Given the description of an element on the screen output the (x, y) to click on. 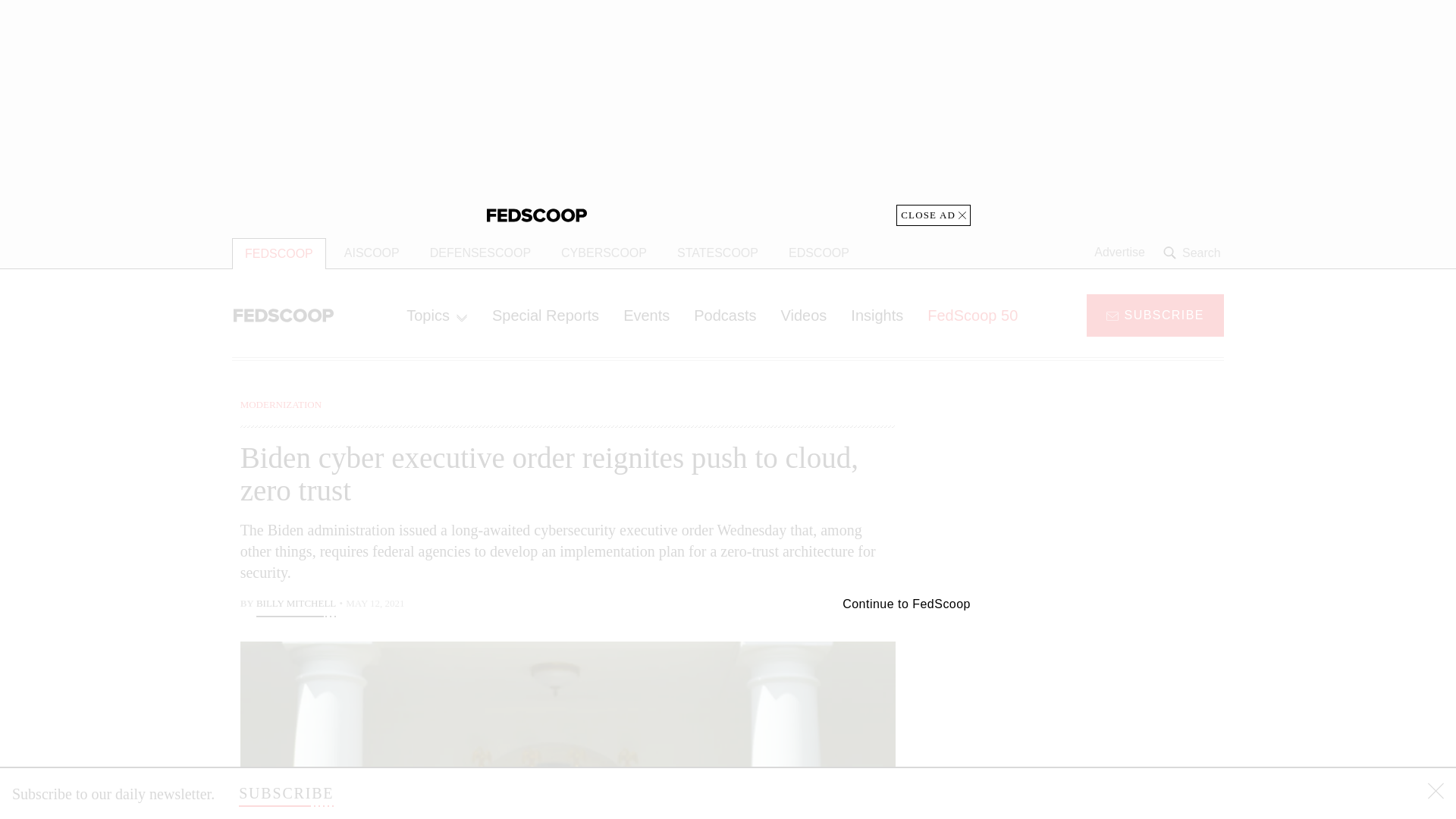
Search (1193, 252)
Special Reports (545, 315)
Topics (437, 315)
MODERNIZATION (280, 404)
Podcasts (724, 315)
SUBSCRIBE (1155, 314)
SUBSCRIBE (285, 793)
FEDSCOOP (278, 253)
3rd party ad content (1101, 705)
AISCOOP (371, 253)
FedScoop 50 (972, 315)
DEFENSESCOOP (480, 253)
3rd party ad content (1101, 492)
